Given the description of an element on the screen output the (x, y) to click on. 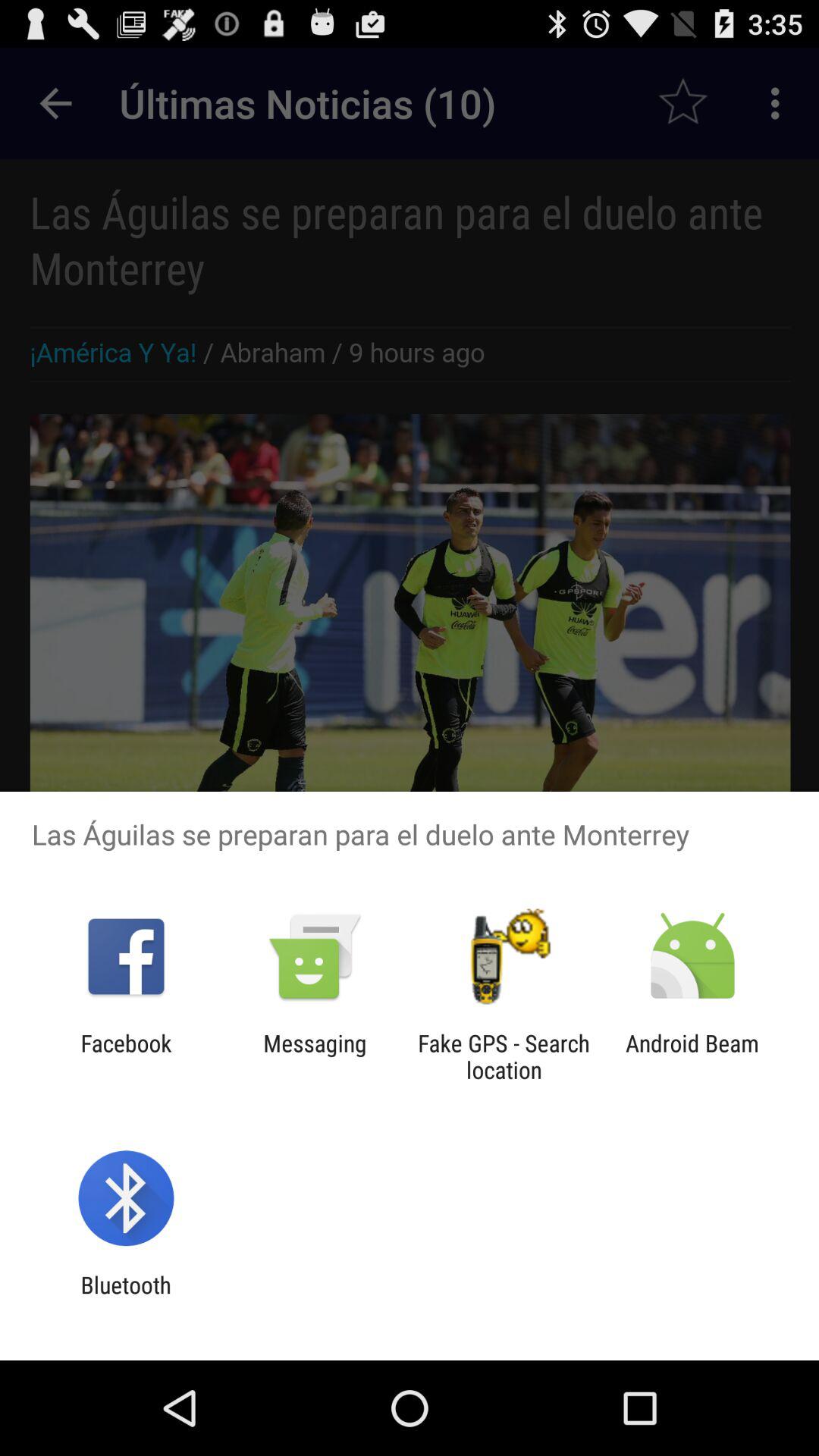
turn on item to the right of the facebook item (314, 1056)
